Given the description of an element on the screen output the (x, y) to click on. 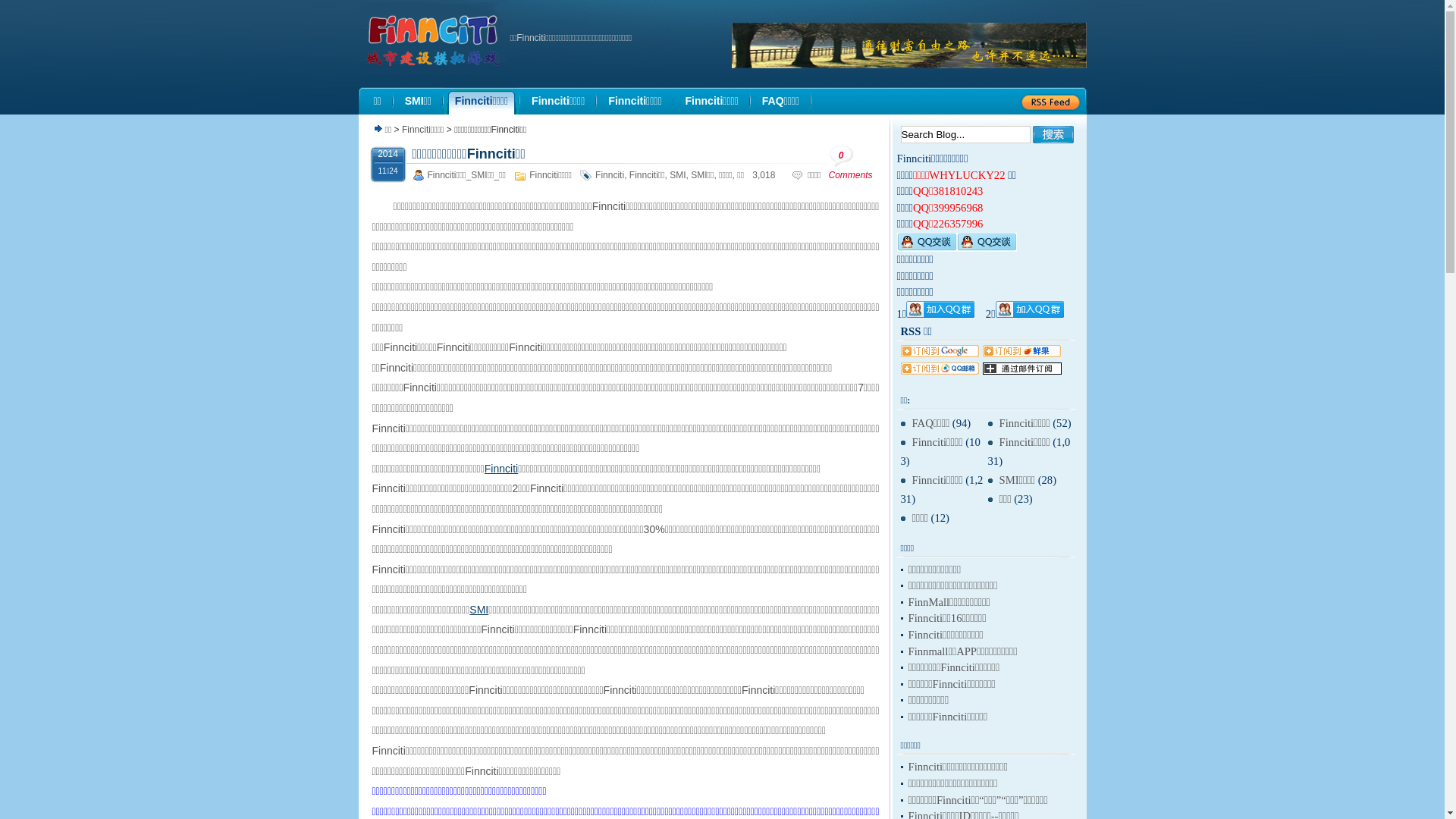
SMI Element type: text (478, 609)
SMI Element type: text (677, 174)
Search Blog... Element type: text (965, 134)
Finnciti Element type: text (500, 468)
0
Comments Element type: text (854, 162)
Finnciti Element type: text (609, 174)
